Given the description of an element on the screen output the (x, y) to click on. 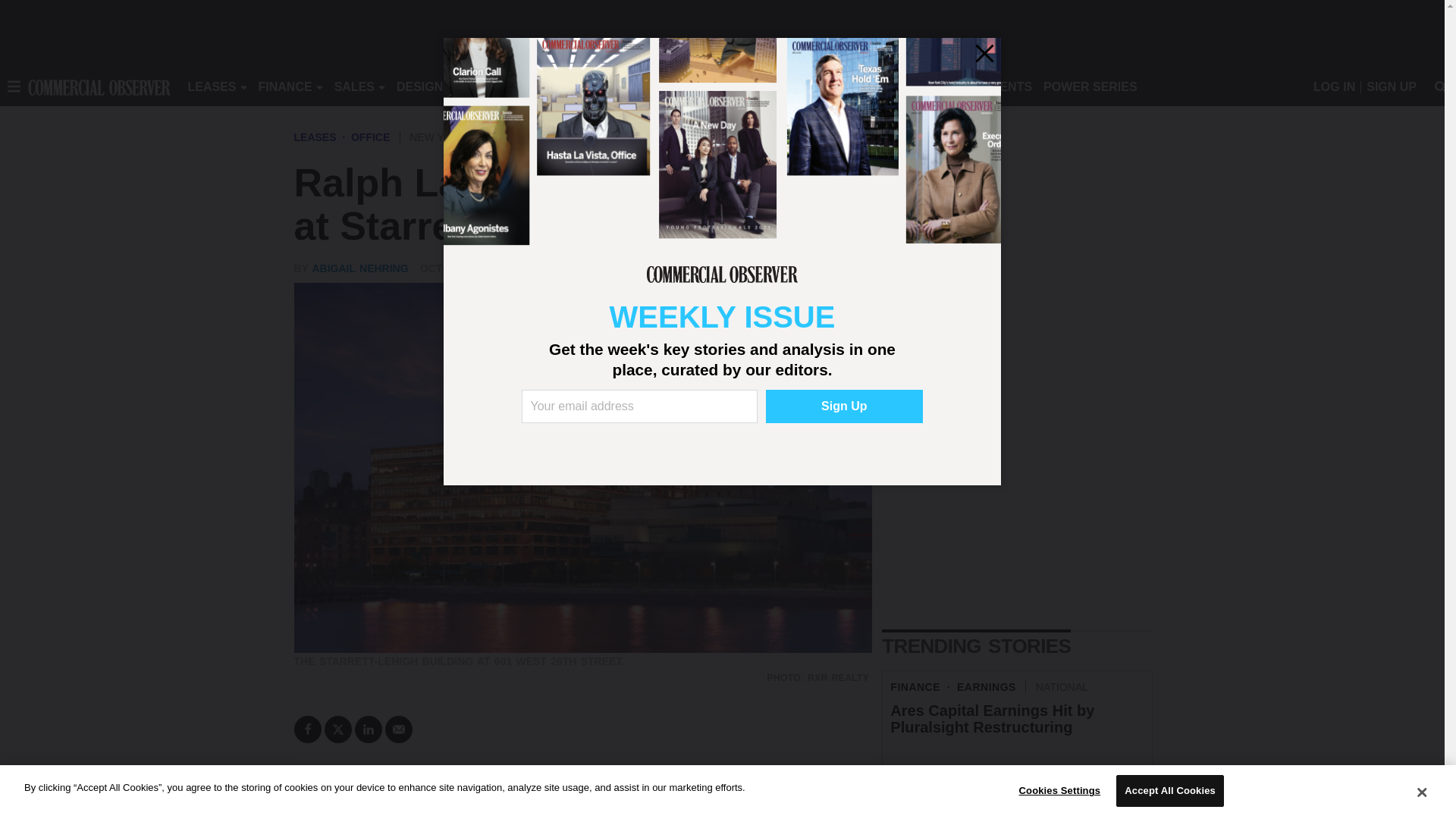
Posts by Abigail Nehring (359, 268)
FINANCE (286, 86)
Send email (398, 728)
Share on Facebook (307, 728)
TECHNOLOGY (619, 86)
Share on LinkedIn (368, 728)
Tweet (338, 728)
Commercial Observer Home (98, 86)
MORE (691, 86)
LEASES (211, 86)
SALES (354, 86)
